Given the description of an element on the screen output the (x, y) to click on. 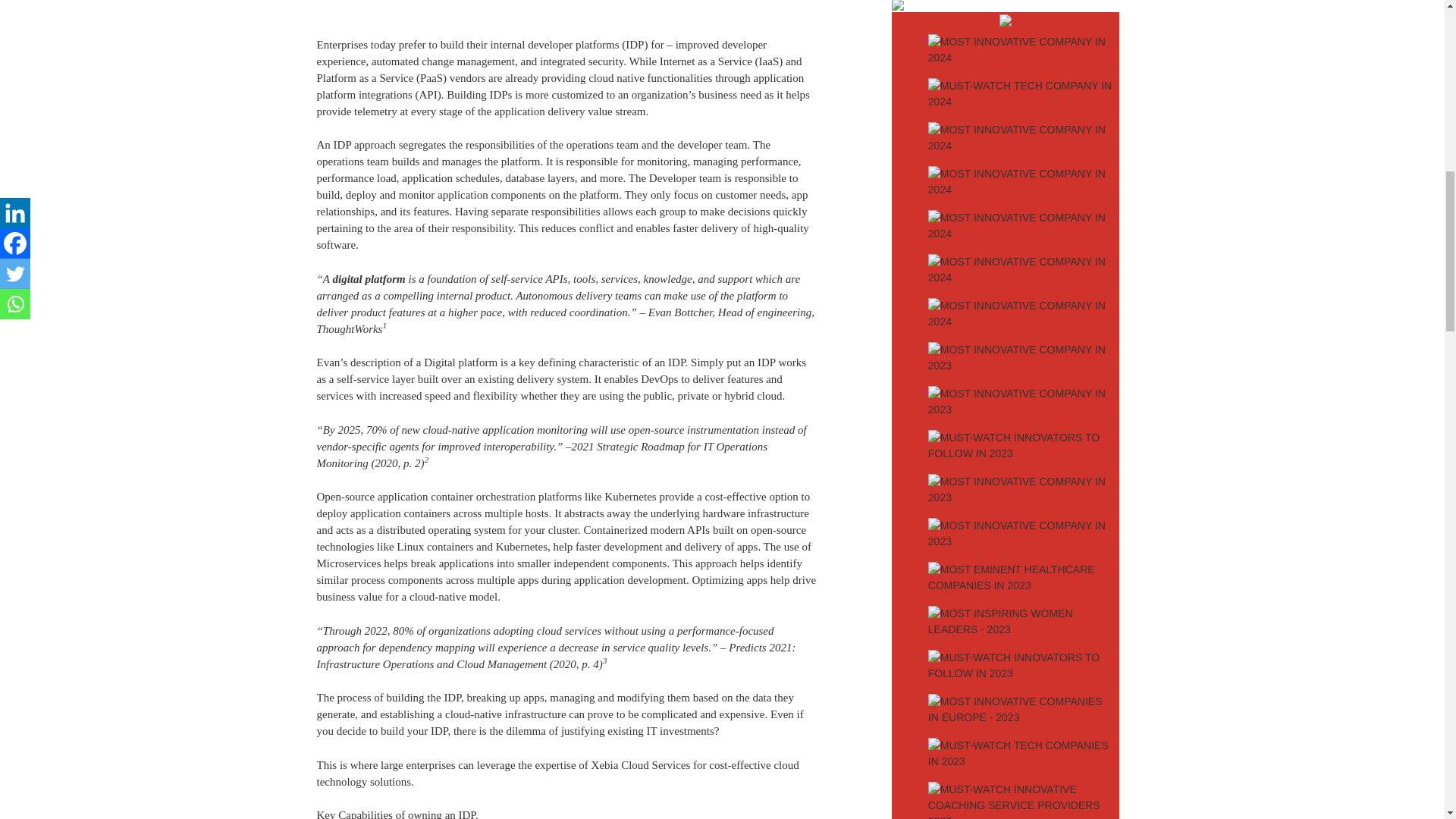
MOST INNOVATIVE COMPANY IN 2024 (1020, 137)
MUST-WATCH TECH COMPANY IN 2024 (1020, 93)
MOST INNOVATIVE COMPANY IN 2024 (1020, 225)
MOST INNOVATIVE COMPANY IN 2024 (1020, 269)
MOST INNOVATIVE COMPANY IN 2024 (1020, 49)
MOST INNOVATIVE COMPANY IN 2024 (1020, 181)
